Given the description of an element on the screen output the (x, y) to click on. 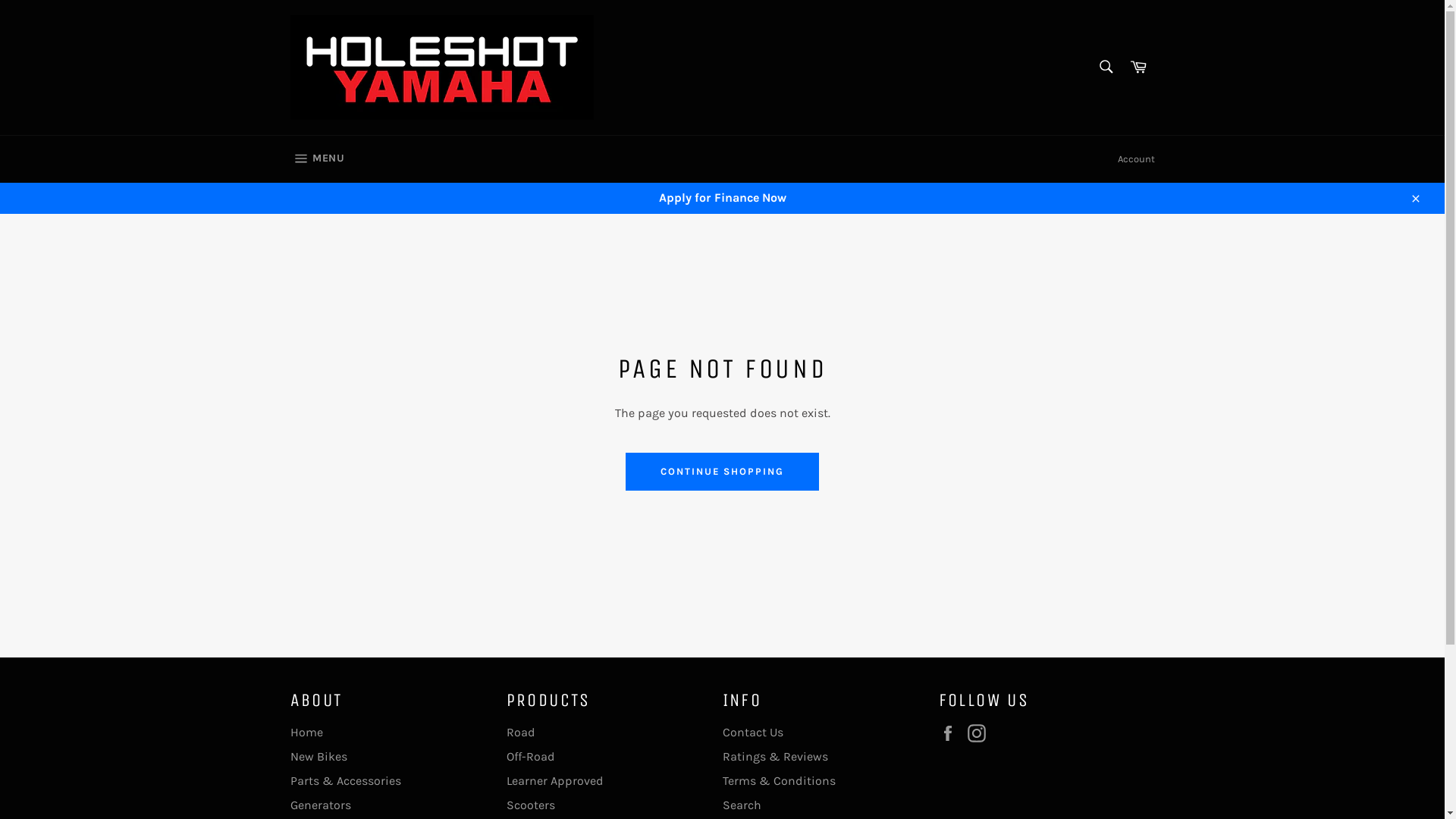
Search Element type: text (740, 804)
Home Element type: text (305, 731)
Close Element type: text (1414, 197)
Instagram Element type: text (980, 733)
Off-Road Element type: text (530, 756)
Cart Element type: text (1138, 67)
CONTINUE SHOPPING Element type: text (722, 471)
Contact Us Element type: text (751, 731)
MENU
SITE NAVIGATION Element type: text (316, 158)
Terms & Conditions Element type: text (777, 780)
Search Element type: text (1105, 65)
Generators Element type: text (319, 804)
Facebook Element type: text (951, 733)
Ratings & Reviews Element type: text (774, 756)
Account Element type: text (1136, 159)
Scooters Element type: text (530, 804)
Road Element type: text (520, 731)
New Bikes Element type: text (317, 756)
Parts & Accessories Element type: text (344, 780)
Apply for Finance Now Element type: text (722, 197)
Learner Approved Element type: text (554, 780)
